Given the description of an element on the screen output the (x, y) to click on. 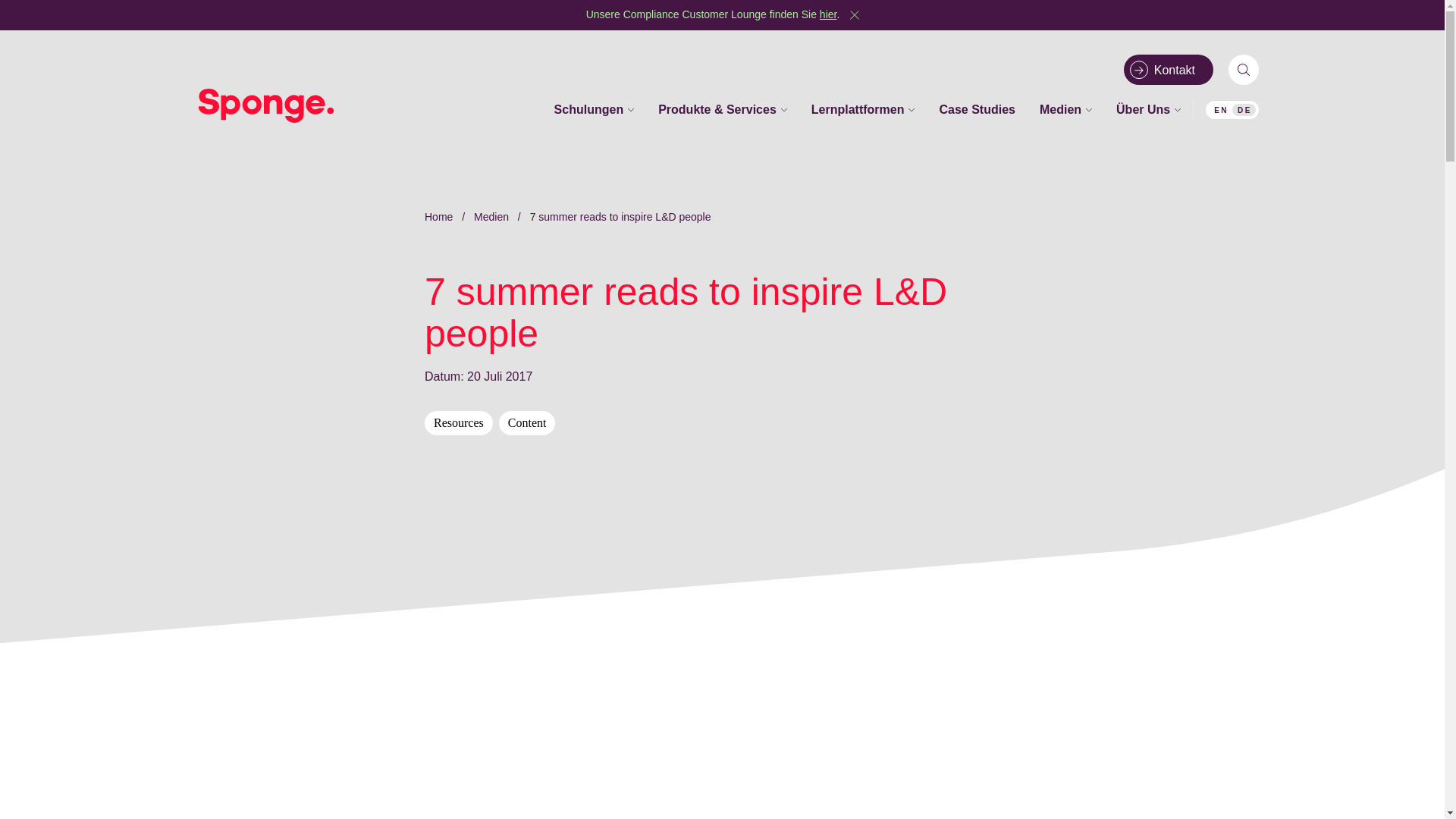
hier (828, 14)
